Given the description of an element on the screen output the (x, y) to click on. 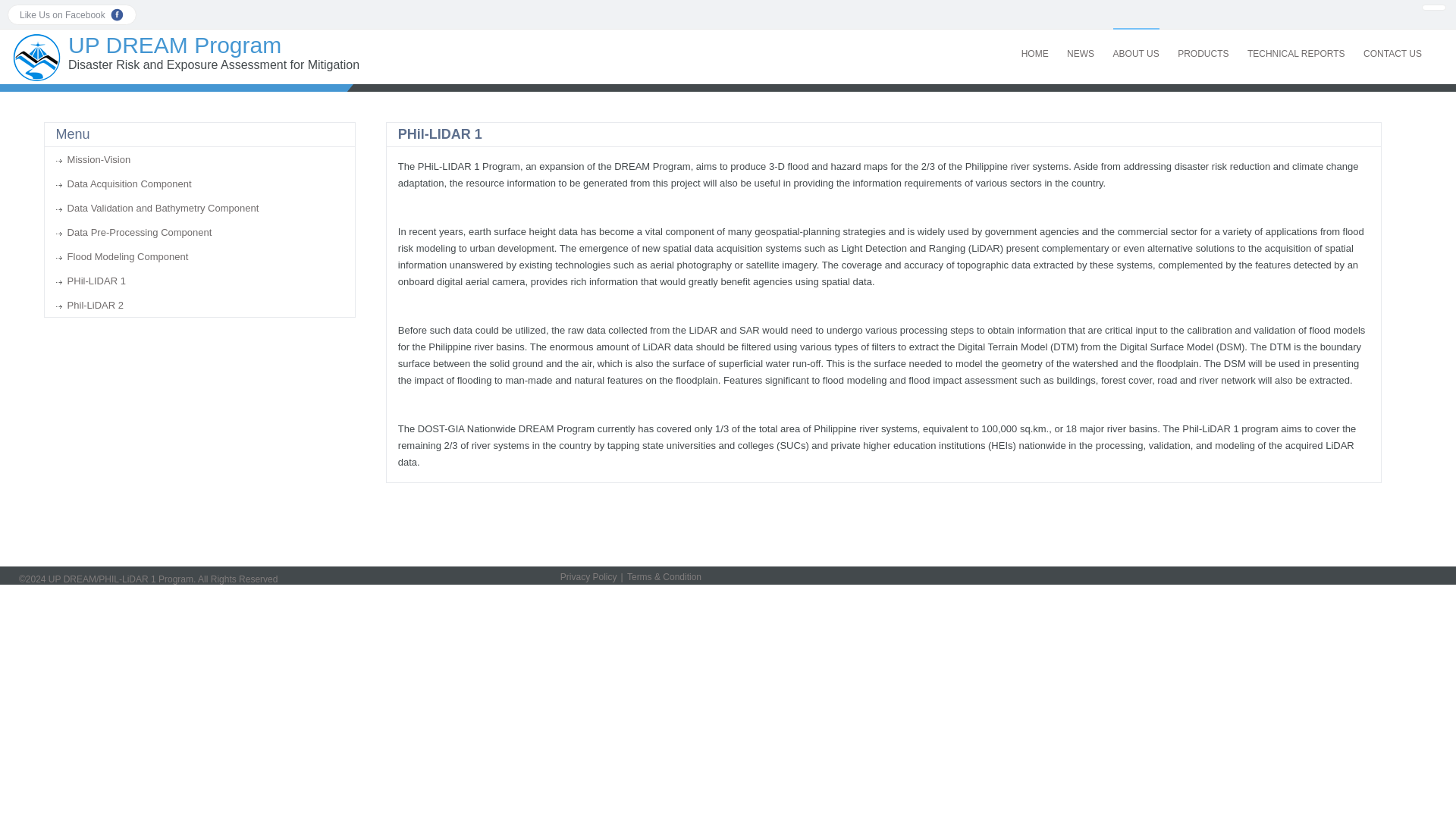
Go to the Flood Modeling Component page (122, 256)
Products (1202, 43)
Privacy Policy (590, 576)
Go to the Phil-LiDAR 2 page (89, 305)
Go to the Data Acquisition Component page (124, 183)
Data Validation and Bathymetry Component (157, 207)
Go to the PHil-LIDAR 1 page (90, 280)
PRODUCTS (1202, 43)
Data Pre-Processing Component (134, 232)
UP PHIL-LiDAR 1 Program Technical Reports  (1296, 43)
Mission-Vision (93, 159)
CONTACT US (1392, 43)
UP TCAGP Releases Taal Open LiDAR Data (1080, 43)
NEWS (1080, 43)
HOME (1035, 43)
